Given the description of an element on the screen output the (x, y) to click on. 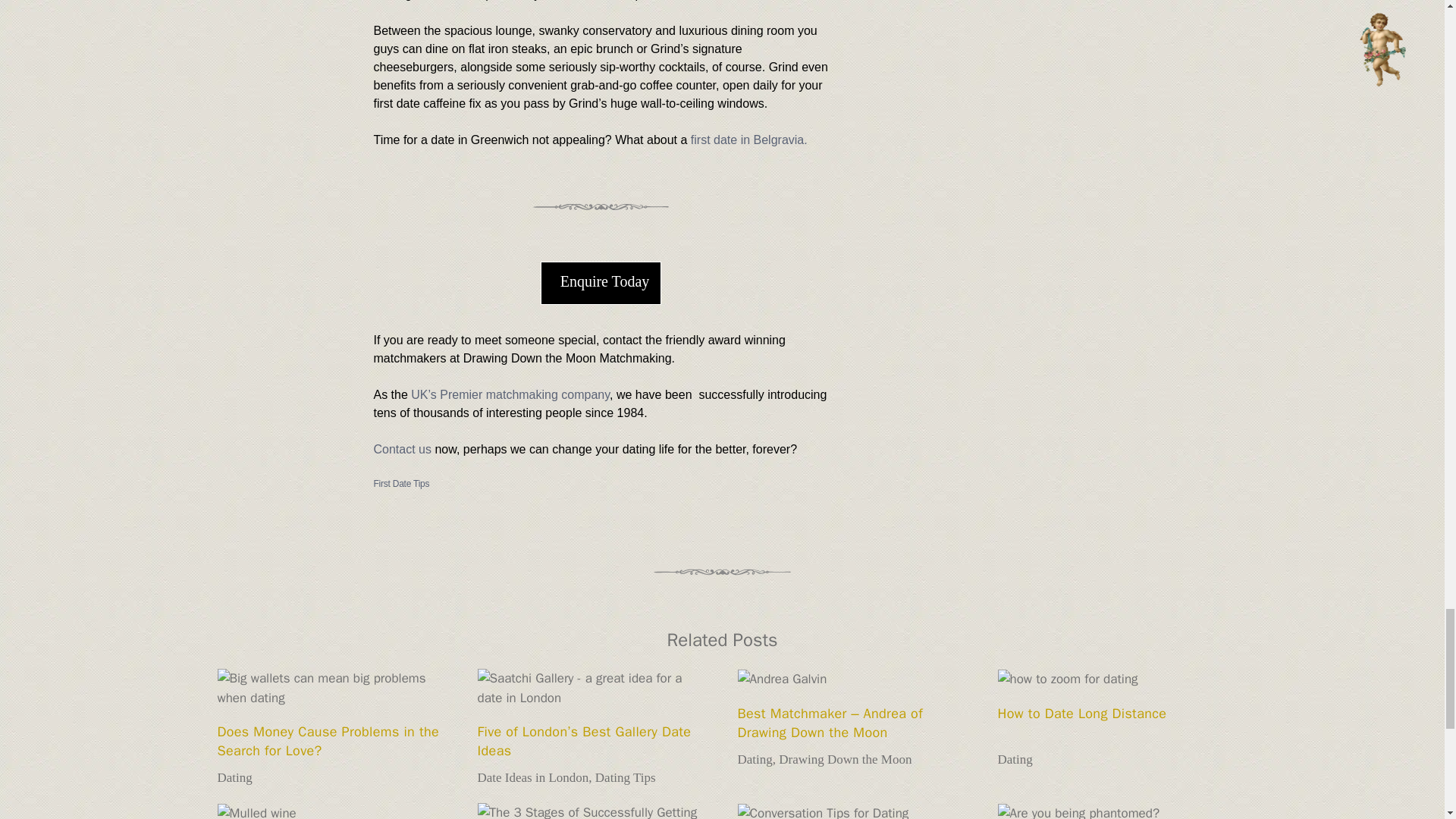
Enquire Today (601, 282)
Contact us (401, 449)
first date in Belgravia. (749, 139)
Enquire Today (601, 282)
Contact us (401, 449)
First Date Tips (400, 483)
Top 5 First Date Venues in Belgravia (749, 139)
